Given the description of an element on the screen output the (x, y) to click on. 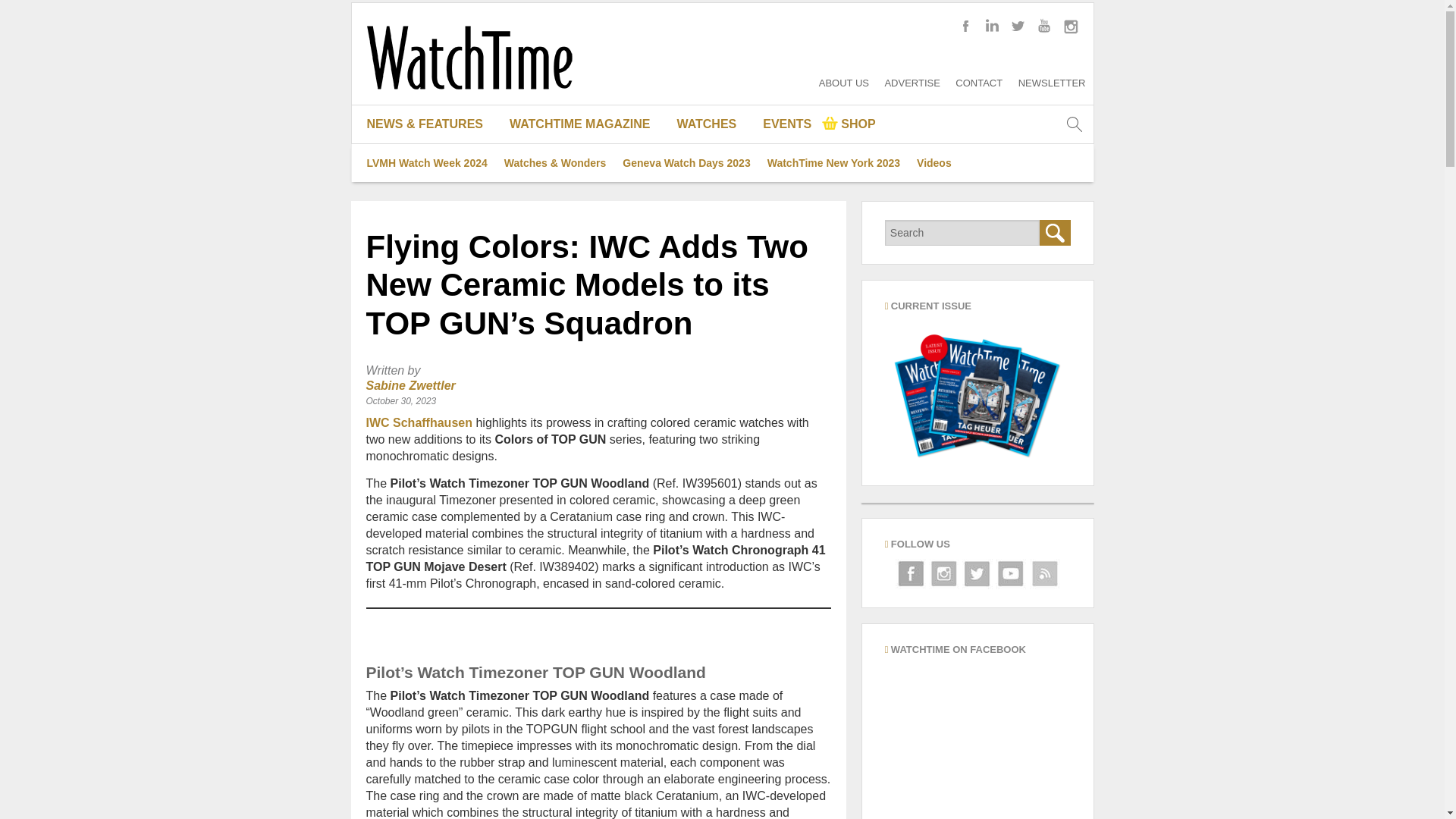
CONTACT (979, 82)
Current Issue (977, 393)
LVMH Watch Week 2024 (426, 162)
SUBSCRIBE NOW (585, 275)
WATCHES (712, 124)
Geneva Watch Days 2023 (686, 162)
ABOUT US (843, 82)
WatchTime Shop (848, 124)
WATCH BLOG (430, 161)
WATCH FEATURES (430, 199)
